Given the description of an element on the screen output the (x, y) to click on. 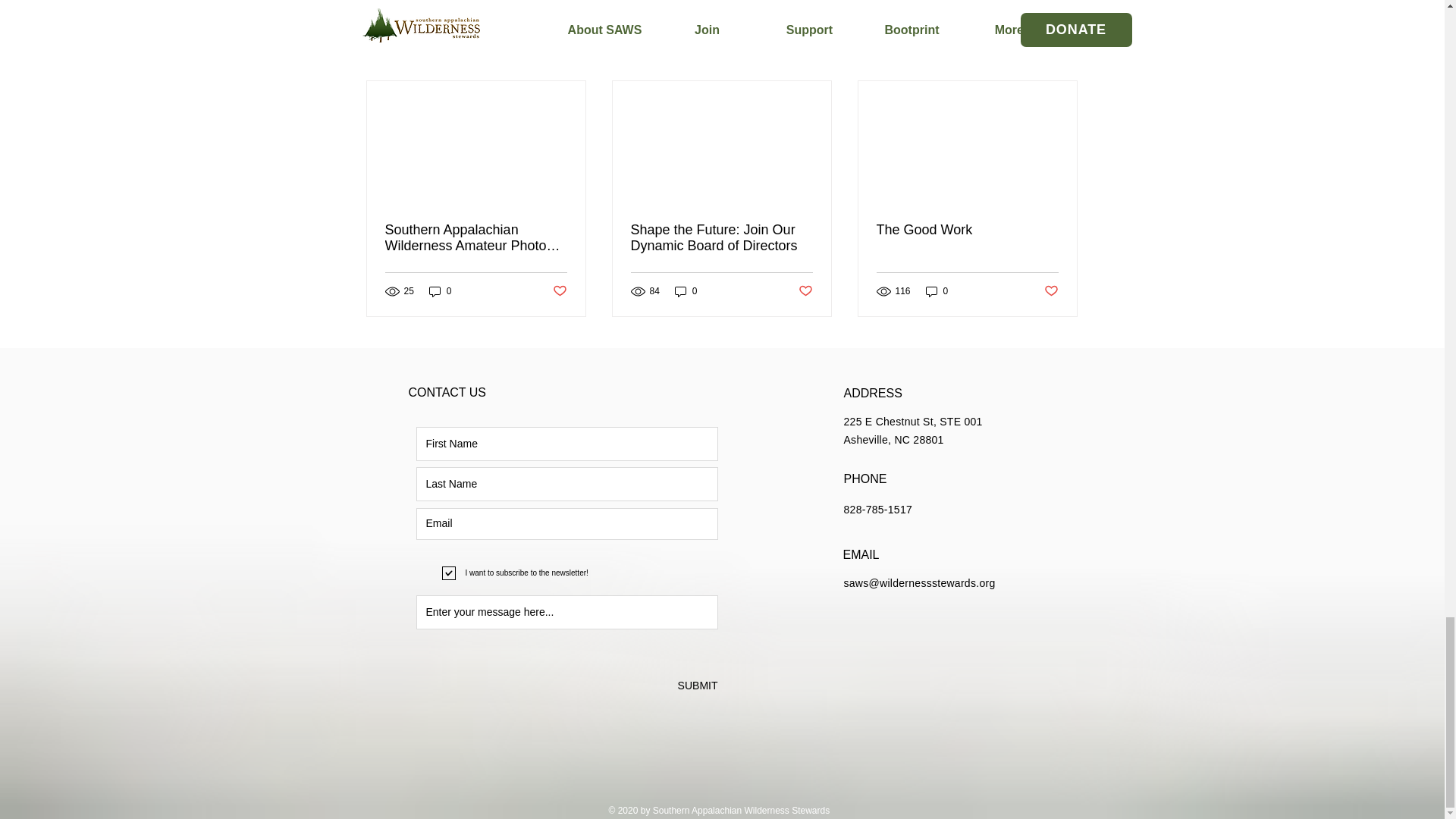
See All (1061, 54)
